Given the description of an element on the screen output the (x, y) to click on. 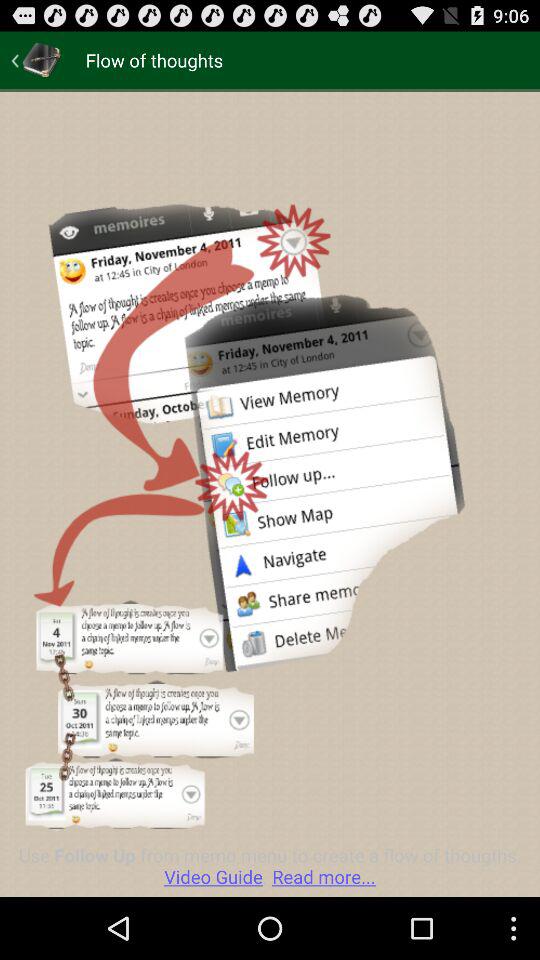
turn off the icon at the top left corner (36, 60)
